Given the description of an element on the screen output the (x, y) to click on. 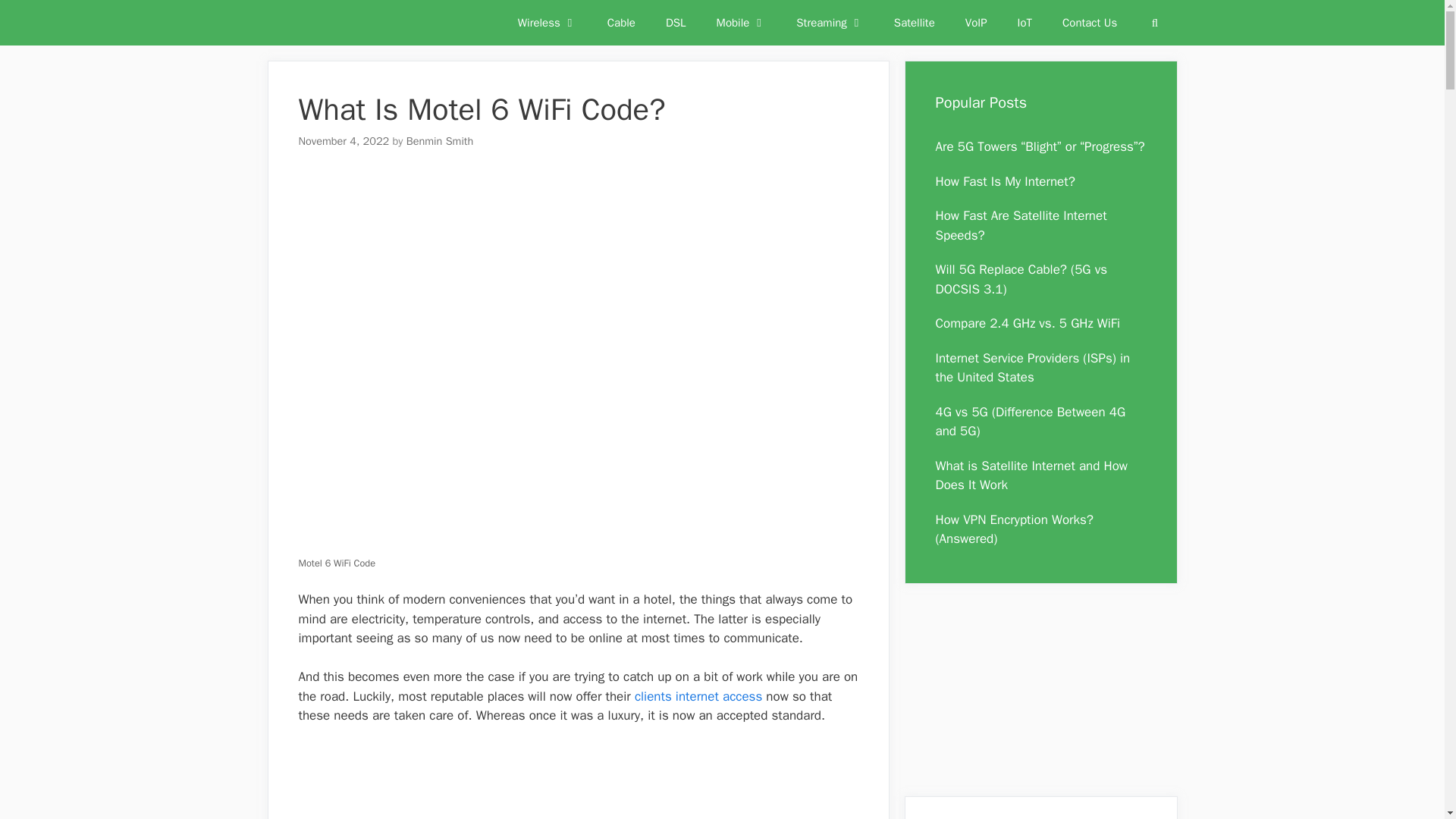
Streaming (829, 22)
Contact Us (1089, 22)
VoIP (976, 22)
November 4, 2022 (344, 141)
DSL (675, 22)
Wireless (547, 22)
Internet Access Guide (335, 22)
Search (1154, 22)
IoT (1024, 22)
clients internet access (697, 696)
Benmin Smith (440, 141)
9:37 pm (344, 141)
View all posts by Benmin Smith (440, 141)
Search (1154, 22)
Satellite (914, 22)
